Given the description of an element on the screen output the (x, y) to click on. 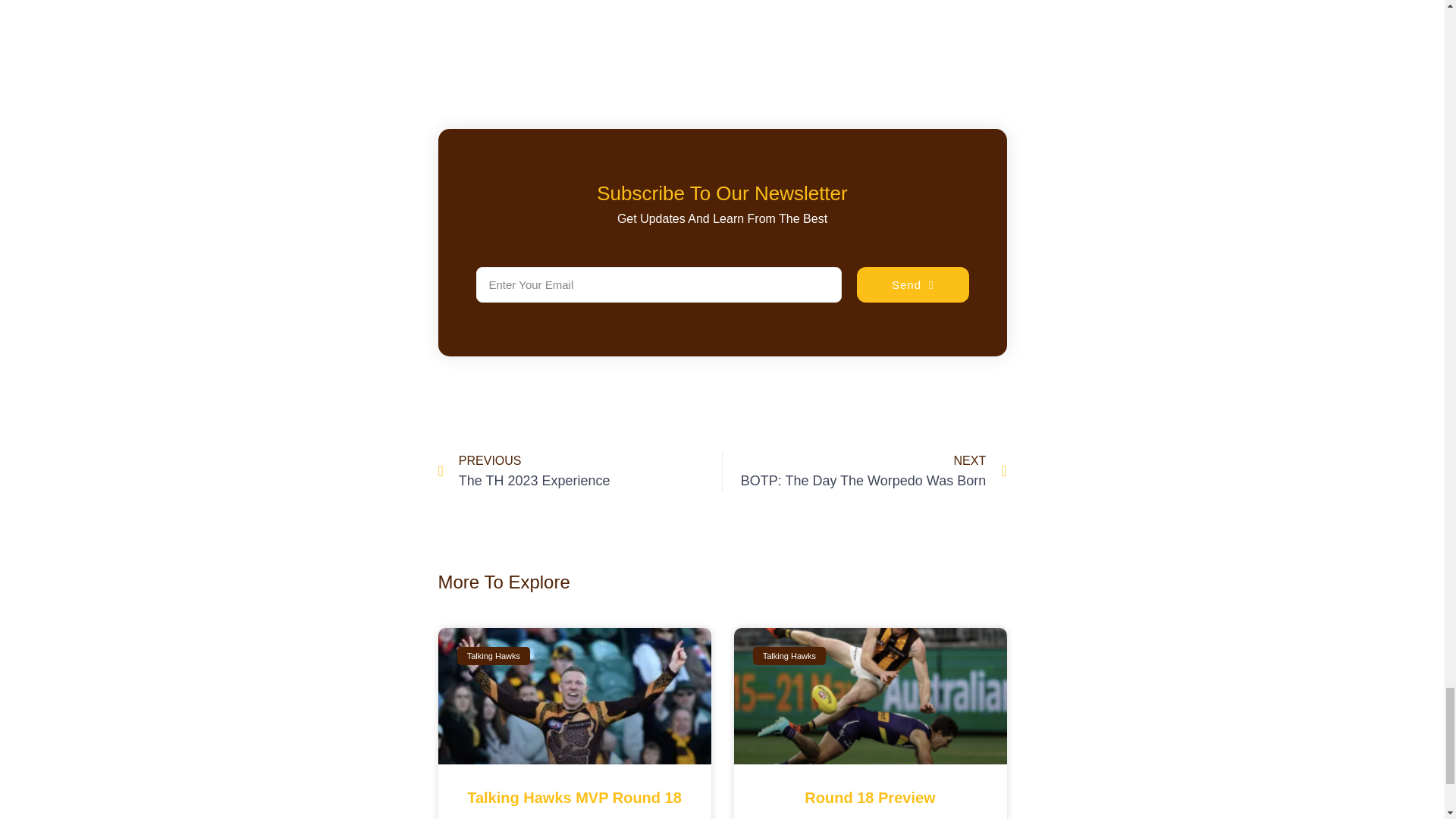
Send (580, 471)
Talking Hawks MVP Round 18 (864, 471)
Round 18 Preview (913, 284)
